Given the description of an element on the screen output the (x, y) to click on. 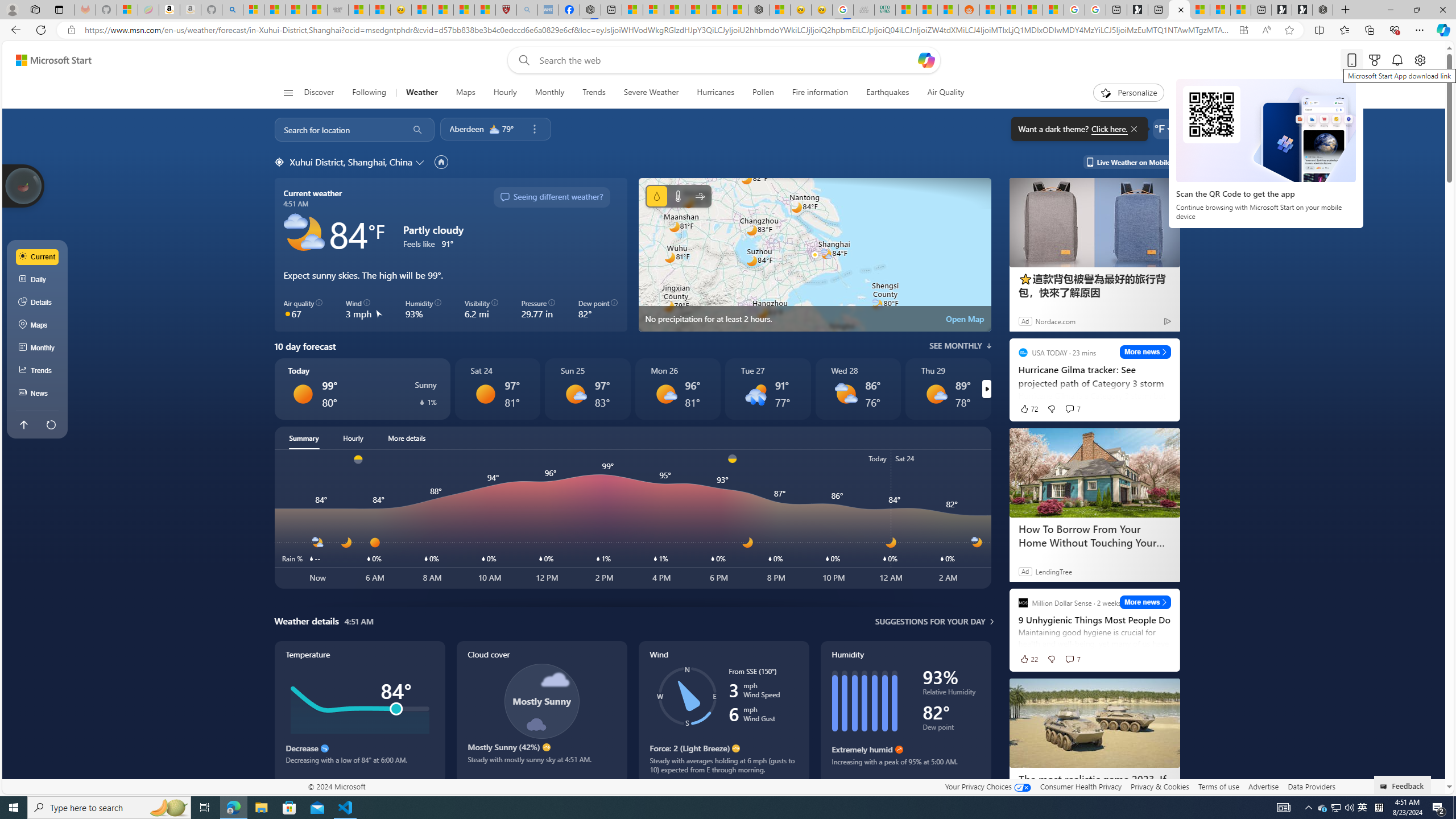
Fire information (820, 92)
Back to top (23, 424)
How To Borrow From Your Home Without Touching Your Mortgage (1094, 472)
Privacy & Cookies (1160, 786)
Science - MSN (463, 9)
Current (37, 256)
Maps (465, 92)
See Monthly (959, 345)
Weather (422, 92)
12 Popular Science Lies that Must be Corrected (485, 9)
